Given the description of an element on the screen output the (x, y) to click on. 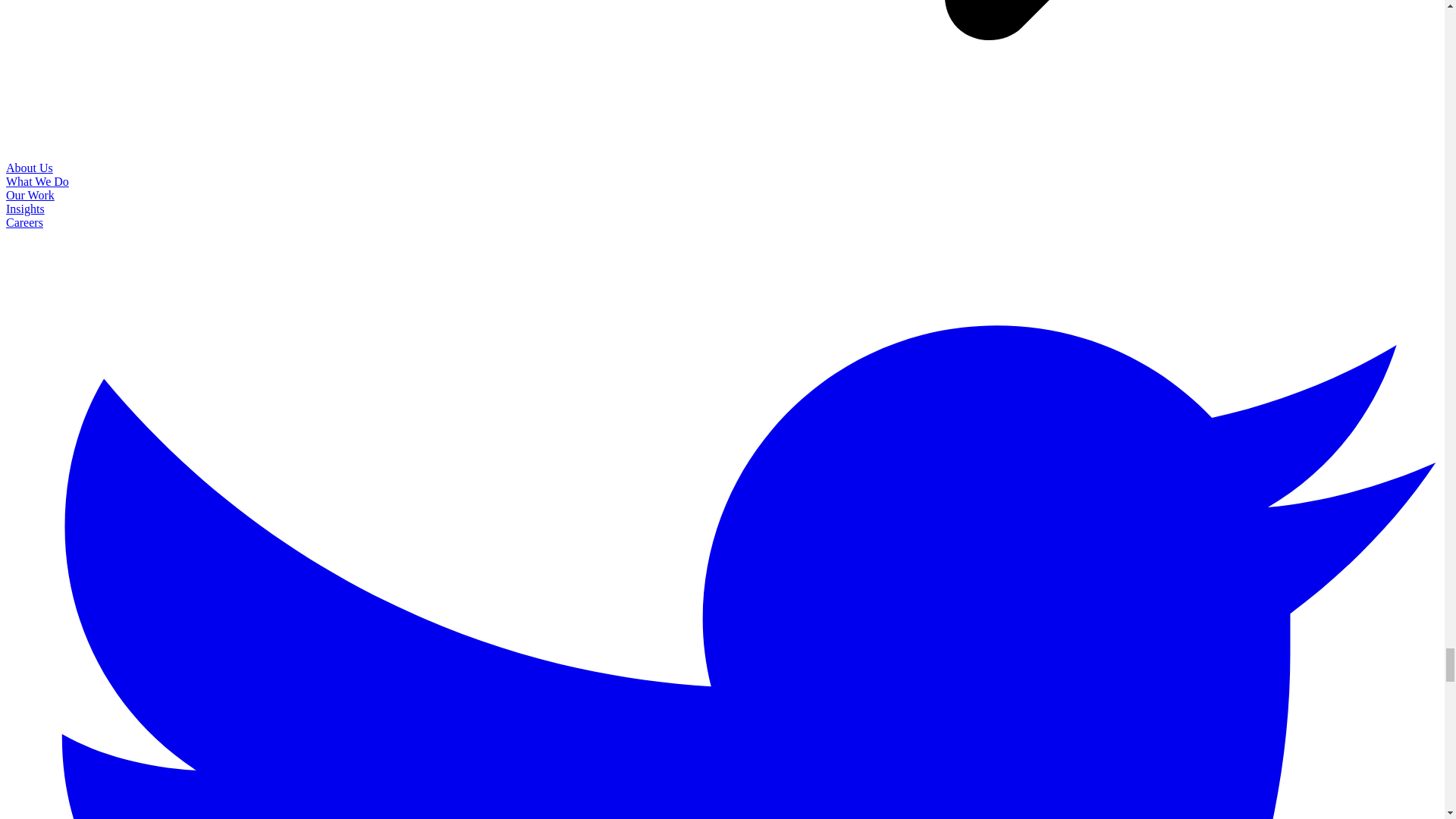
Insights (25, 208)
Careers (24, 222)
What We Do (36, 181)
Our Work (30, 195)
About Us (28, 167)
